Given the description of an element on the screen output the (x, y) to click on. 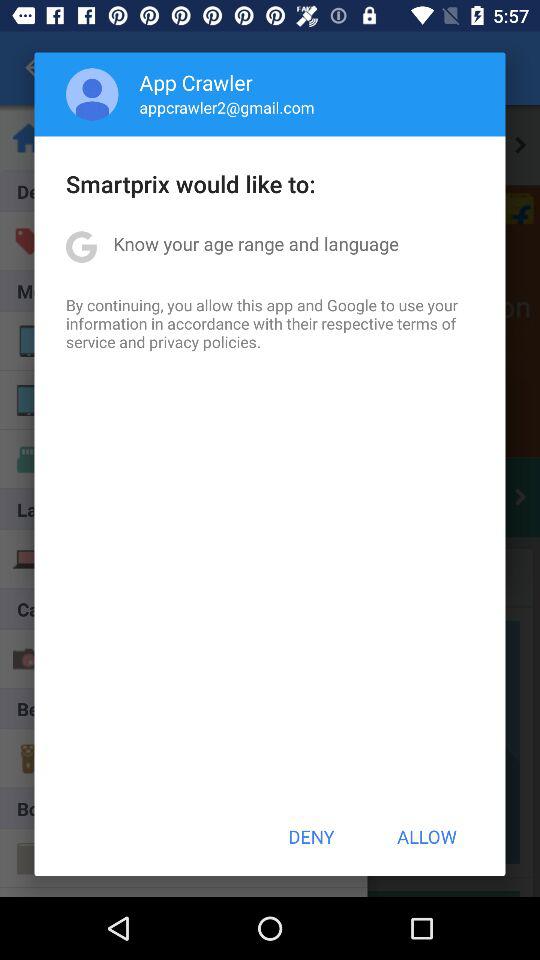
flip until app crawler (195, 82)
